Given the description of an element on the screen output the (x, y) to click on. 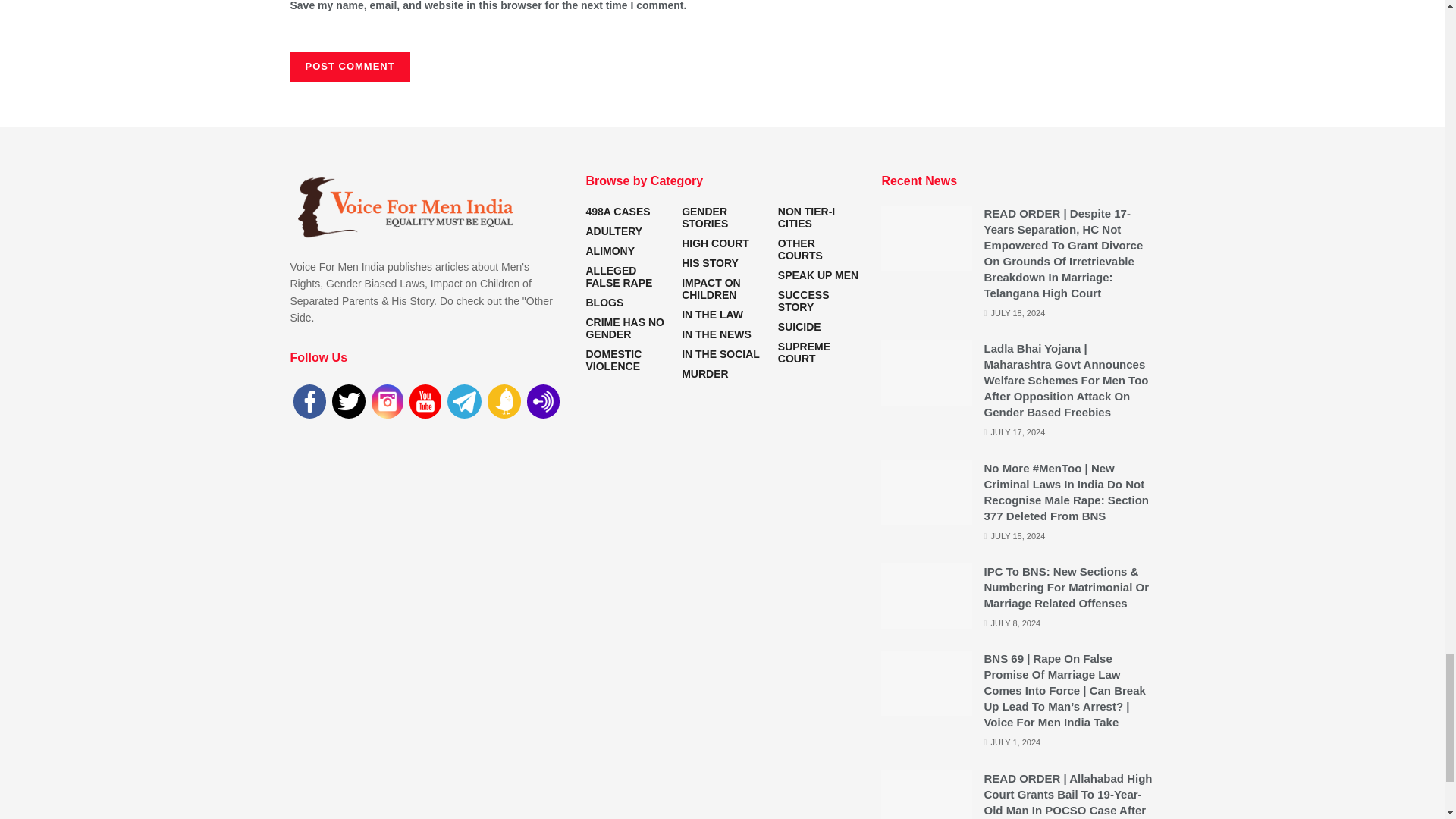
Post Comment (349, 66)
